Given the description of an element on the screen output the (x, y) to click on. 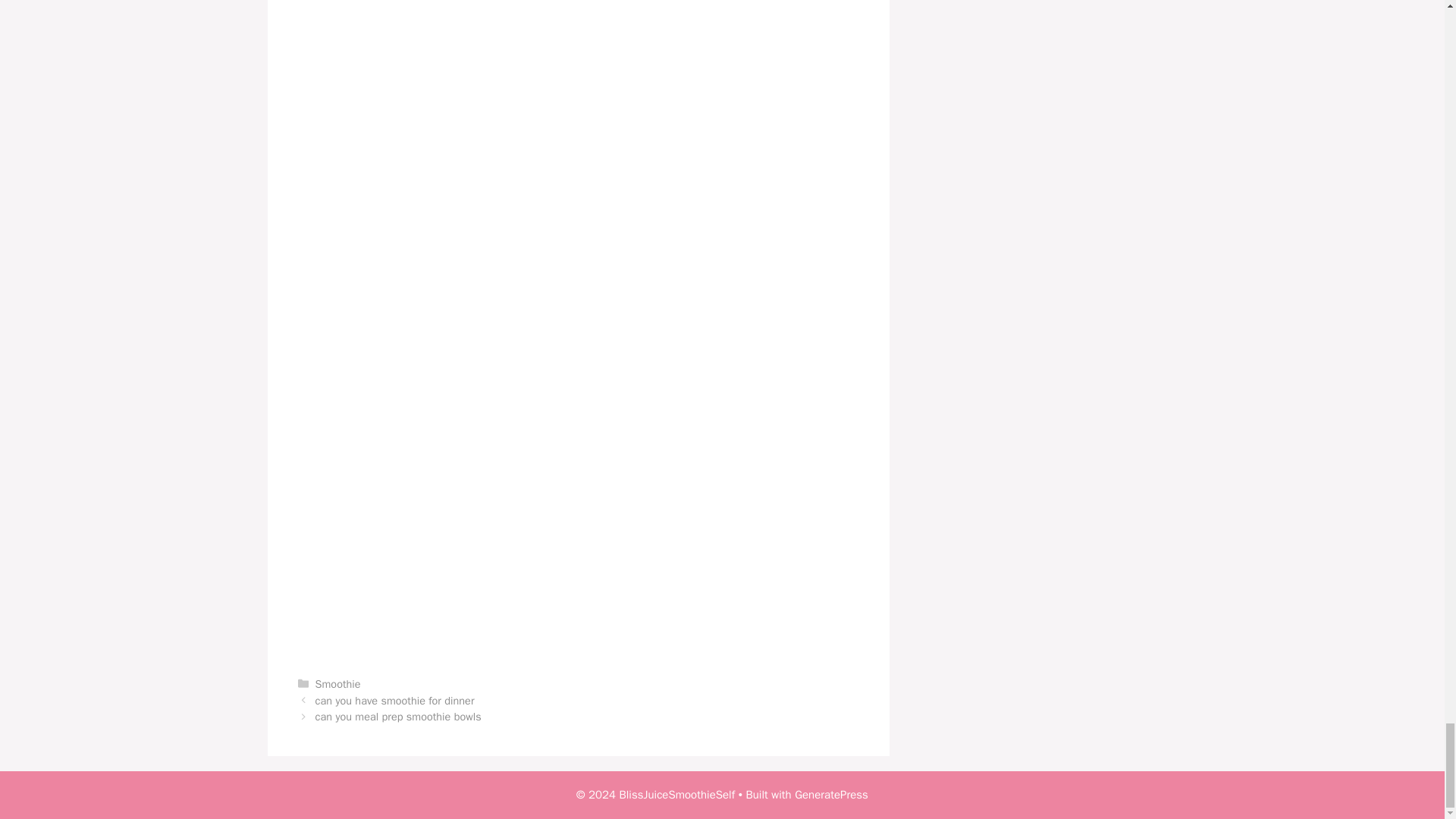
Smoothie (338, 684)
GeneratePress (830, 794)
can you meal prep smoothie bowls (398, 716)
can you have smoothie for dinner (394, 700)
